Given the description of an element on the screen output the (x, y) to click on. 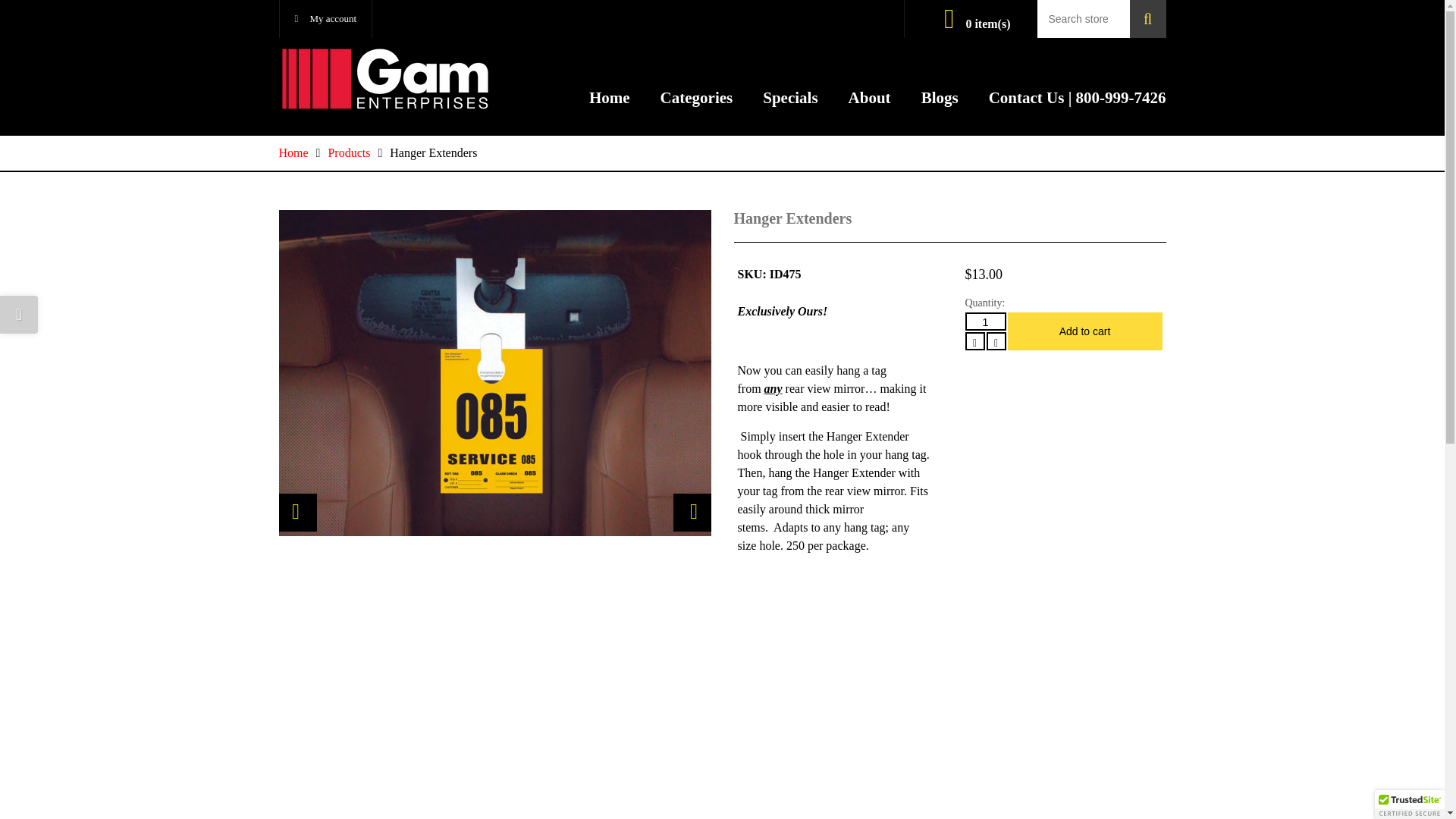
Add to cart (1084, 331)
Home (609, 97)
Products (348, 152)
Home (293, 152)
Categories (697, 97)
About (869, 97)
Blogs (939, 97)
Cart (976, 23)
1 (984, 321)
Specials (789, 97)
My account (325, 18)
My account (325, 18)
